Given the description of an element on the screen output the (x, y) to click on. 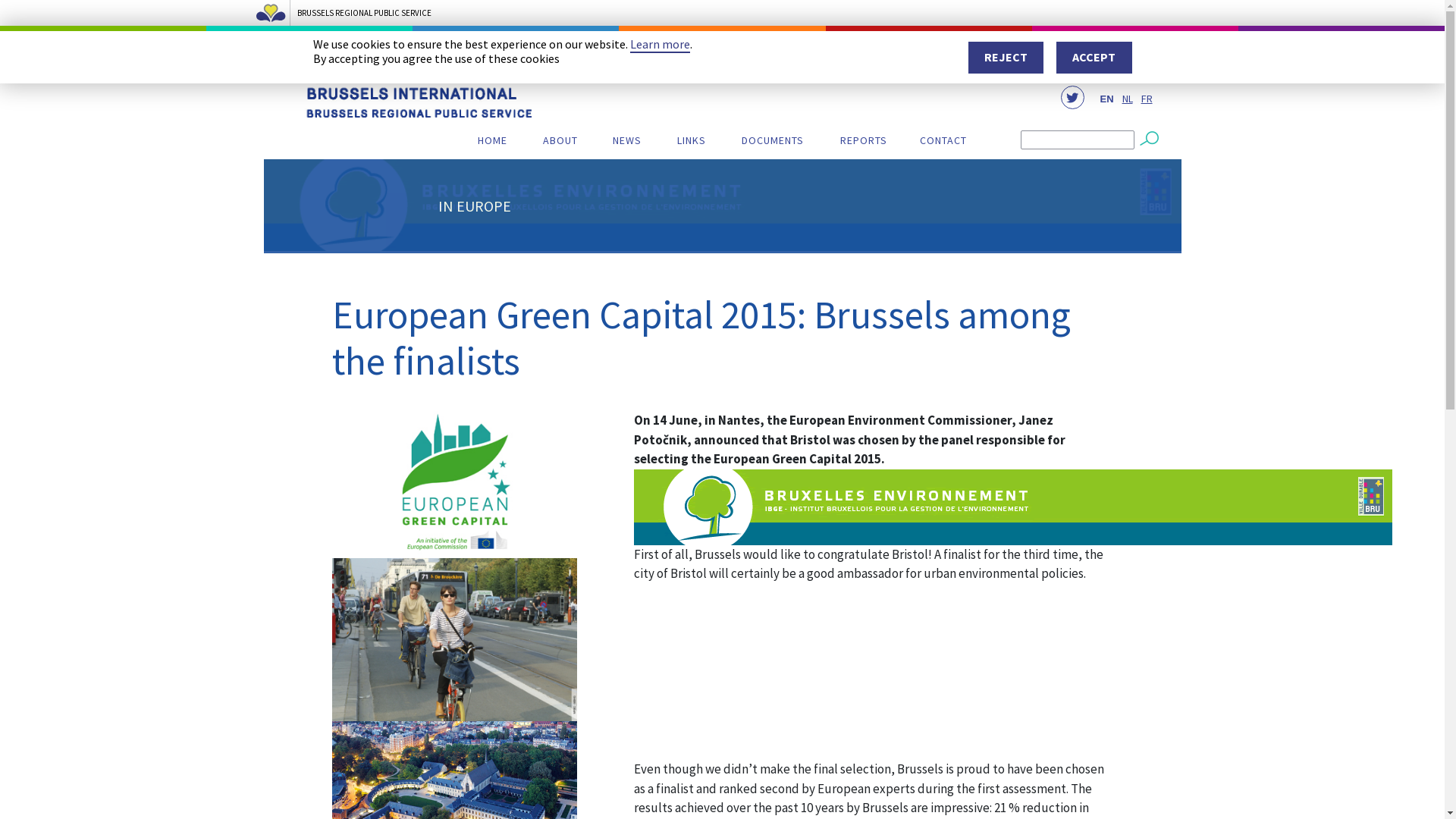
CONTACT Element type: text (943, 144)
ABOUT Element type: text (560, 144)
NEWS Element type: text (627, 144)
ACCEPT Element type: text (1093, 57)
BRUSSELS REGIONAL PUBLIC SERVICE Element type: text (721, 22)
EN Element type: text (1106, 98)
DOCUMENTS Element type: text (772, 144)
Twitter Element type: text (1071, 97)
LINKS Element type: text (690, 144)
REPORTS Element type: text (863, 144)
Learn more Element type: text (659, 44)
FR Element type: text (1146, 98)
HOME Element type: text (492, 144)
NL Element type: text (1127, 98)
REJECT Element type: text (1005, 57)
